Given the description of an element on the screen output the (x, y) to click on. 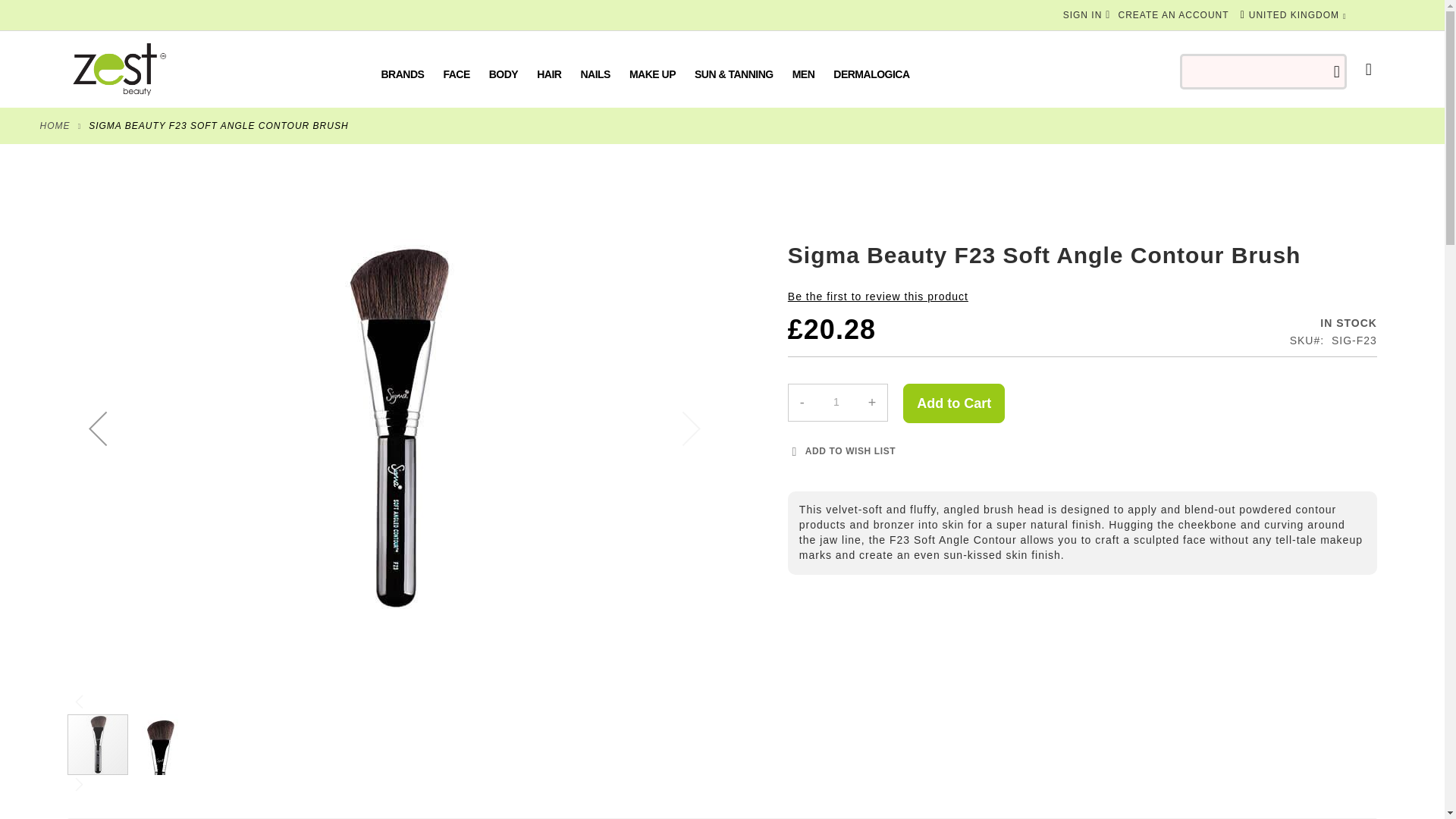
1 (836, 402)
Add to Cart (953, 403)
Go to Home Page (54, 125)
Availability (1271, 323)
Qty (836, 402)
